Given the description of an element on the screen output the (x, y) to click on. 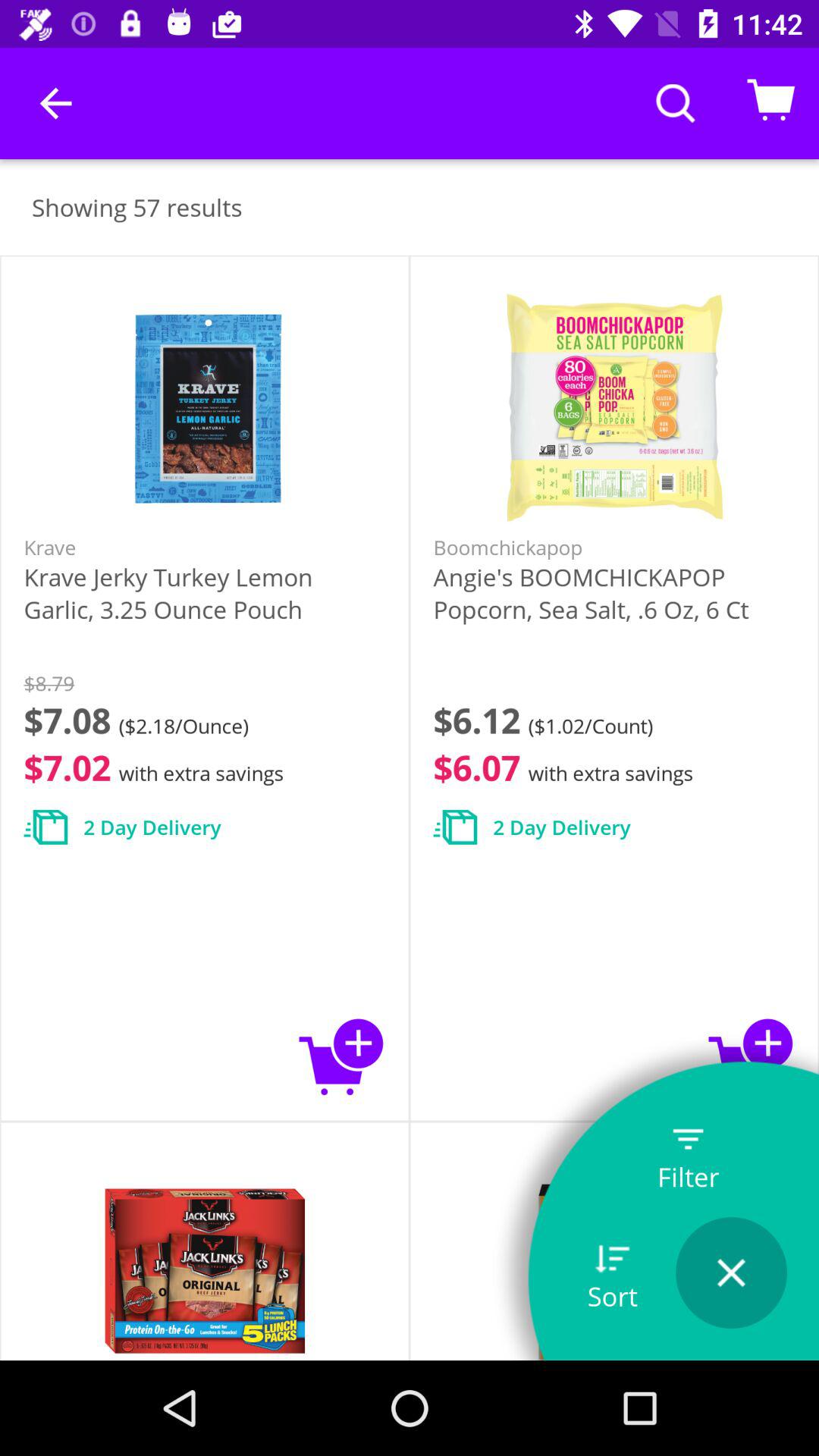
add to shopping cart (751, 1056)
